Given the description of an element on the screen output the (x, y) to click on. 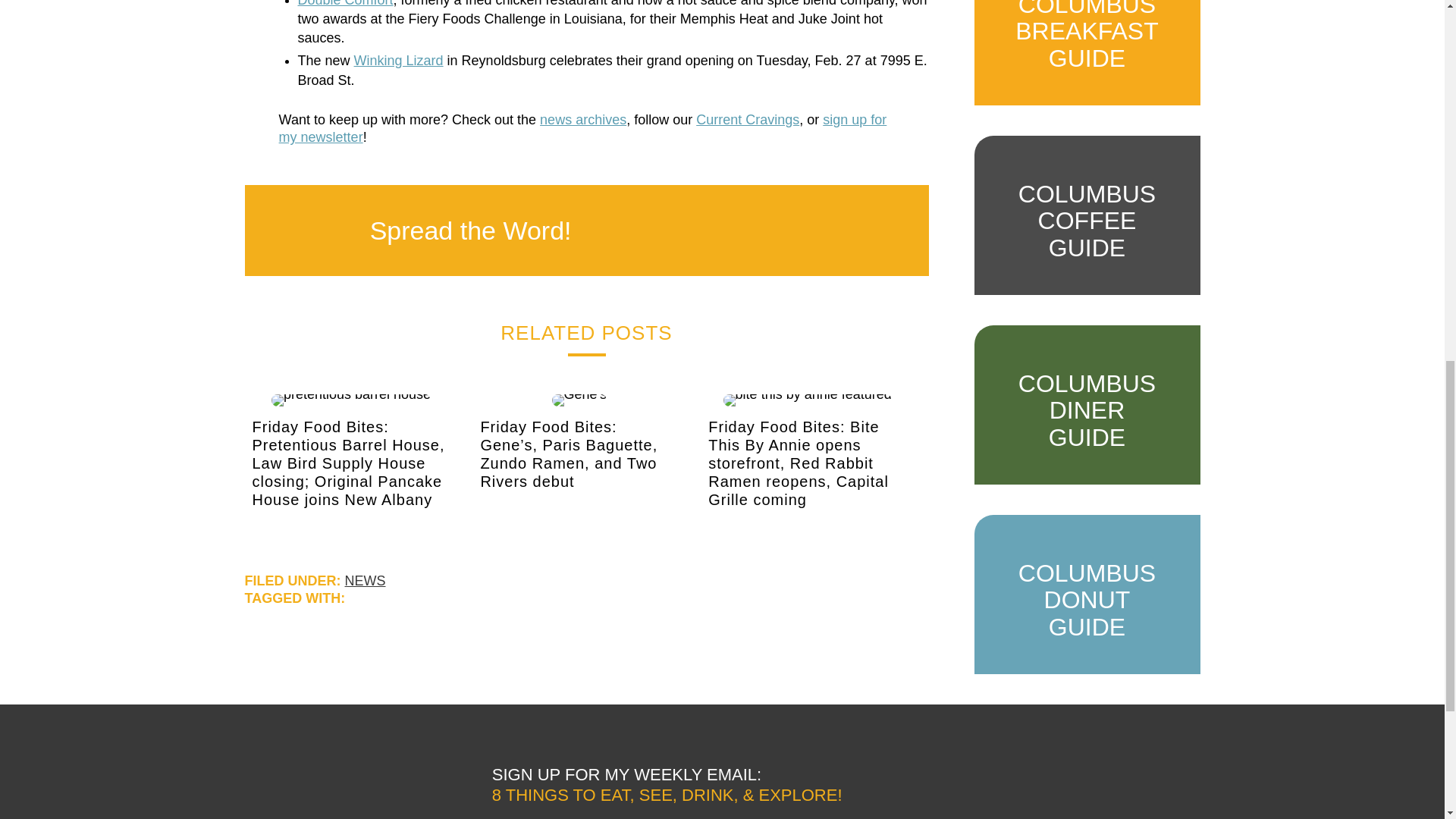
bite this by annie featured (807, 399)
pretentious barrel house (350, 399)
Gene's (579, 399)
Winking Lizard (398, 60)
news archives (583, 119)
twitter (736, 230)
sign up for my newsletter (582, 128)
Current Cravings (747, 119)
Double Comfort (345, 3)
facebook (694, 230)
envelope (819, 230)
pin (778, 230)
